Given the description of an element on the screen output the (x, y) to click on. 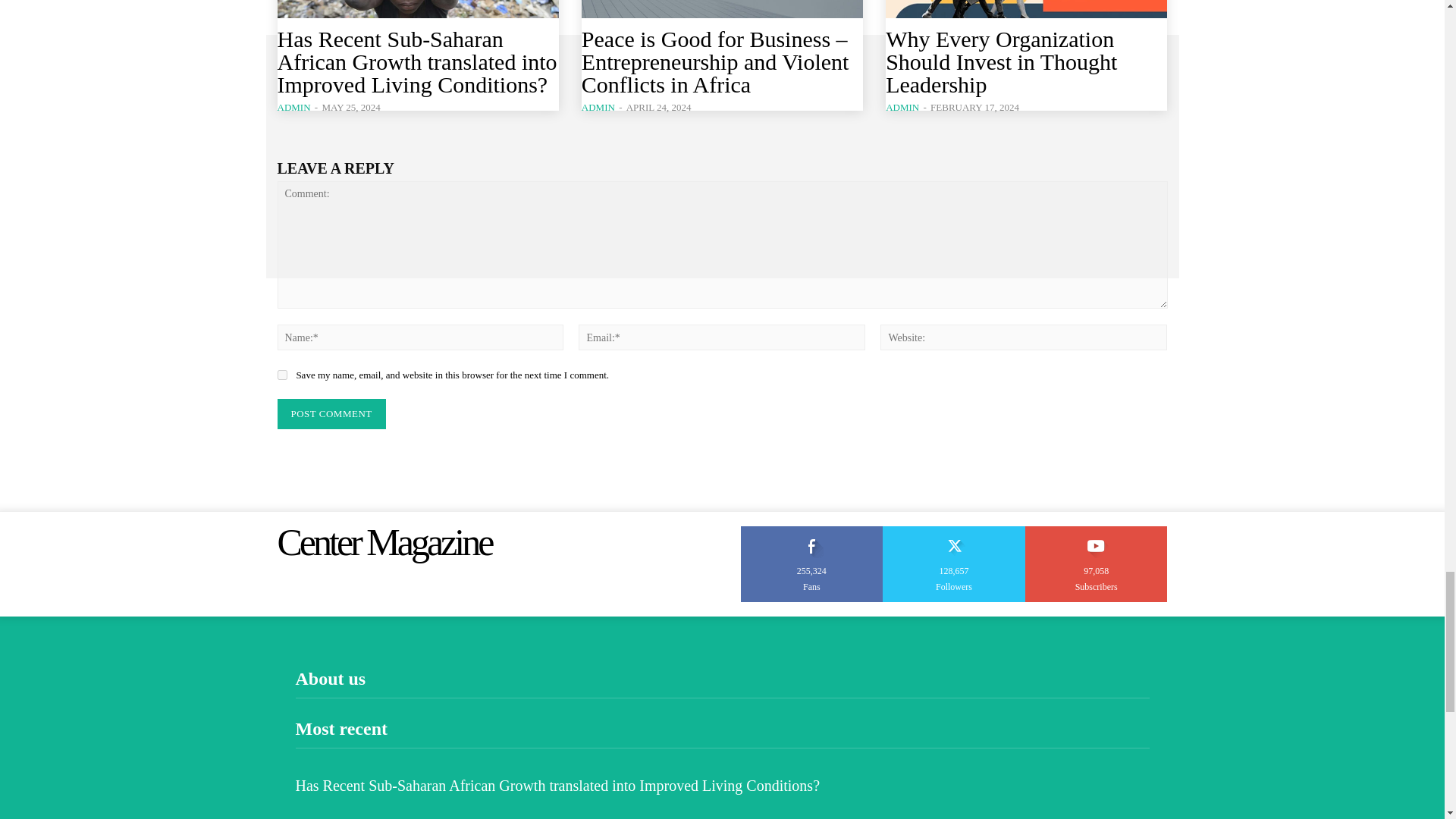
yes (282, 375)
Post Comment (331, 413)
